Given the description of an element on the screen output the (x, y) to click on. 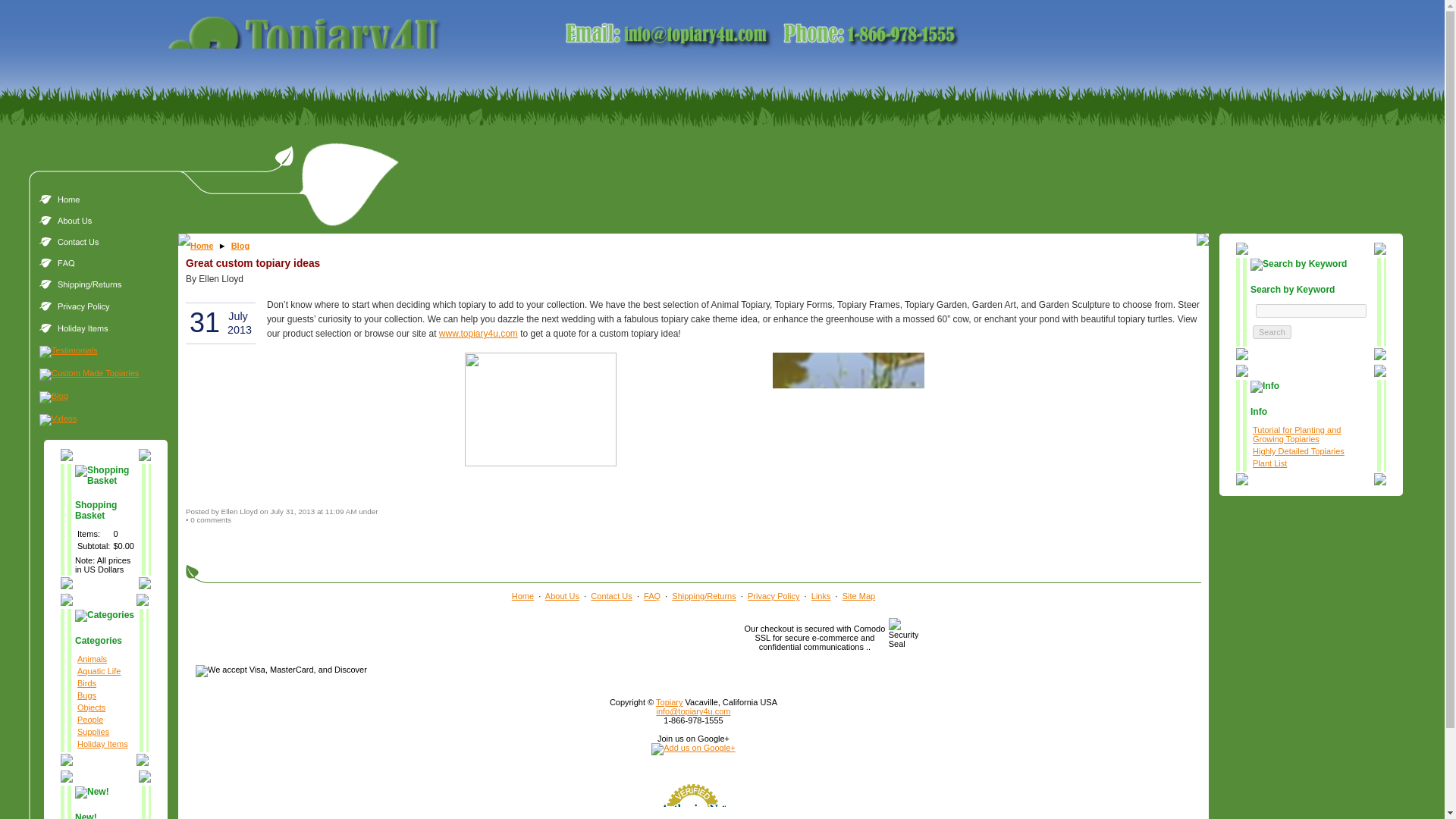
Birds (86, 682)
Blog (239, 245)
Aquatic Life (98, 670)
Supplies (93, 731)
Animals (91, 658)
Bugs (86, 695)
Objects (90, 706)
About Us (561, 595)
